Given the description of an element on the screen output the (x, y) to click on. 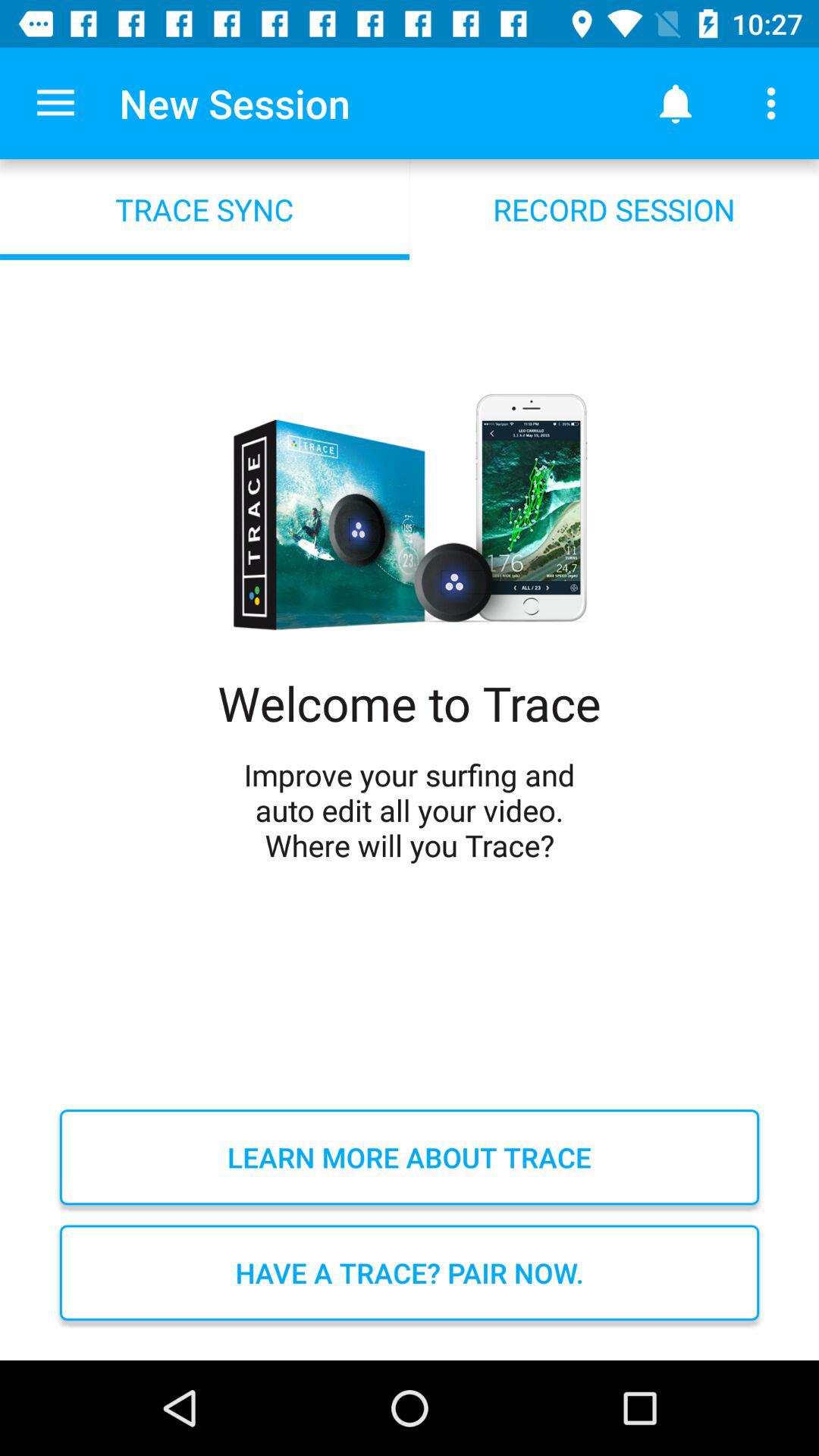
open the item to the right of the new session (675, 103)
